Given the description of an element on the screen output the (x, y) to click on. 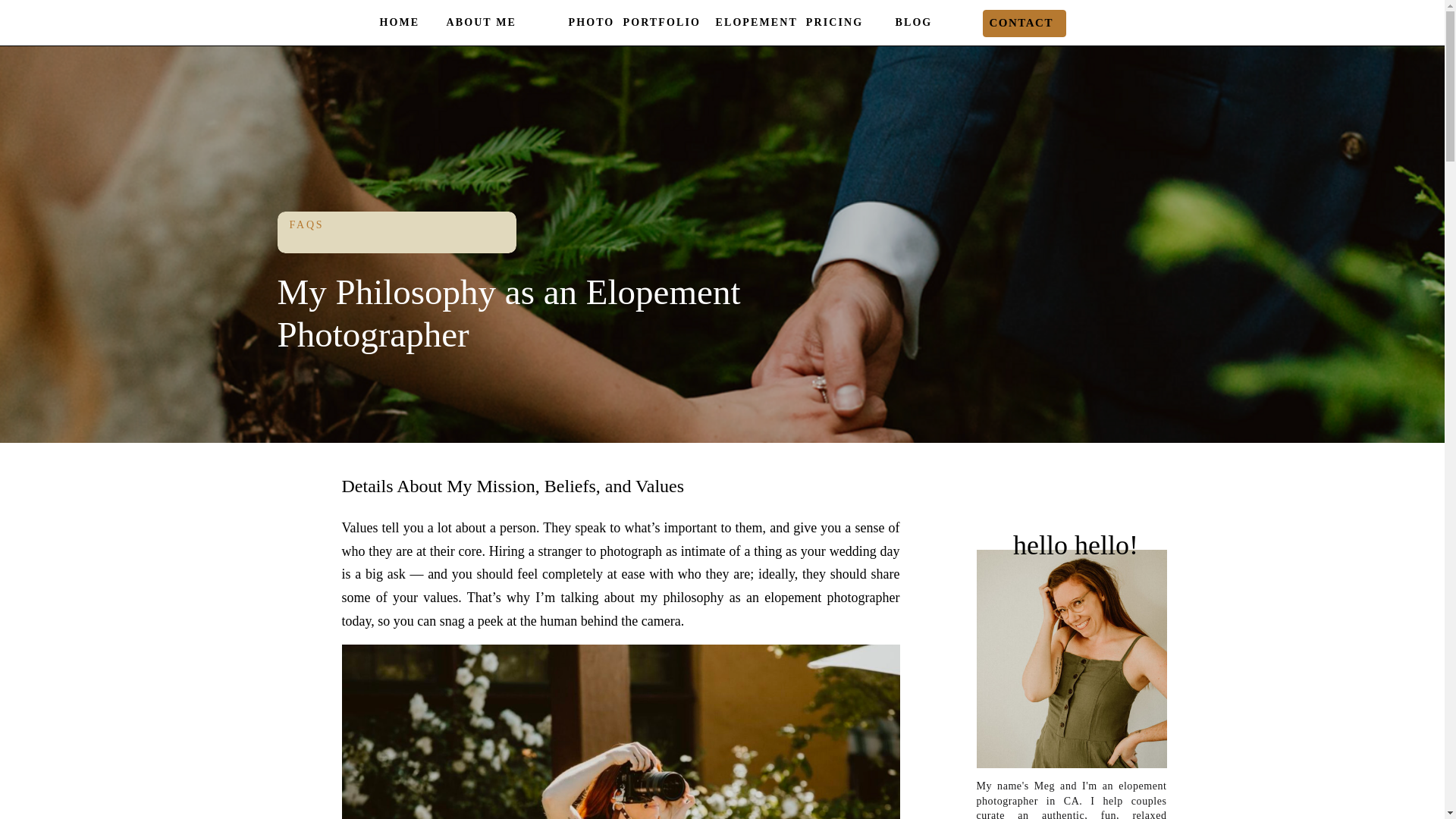
ELOPEMENT  PRICING (802, 23)
PHOTO  PORTFOLIO (635, 23)
ABOUT ME (496, 23)
BLOG (927, 23)
HOME (406, 23)
FAQS (306, 224)
CONTACT (1023, 23)
